Given the description of an element on the screen output the (x, y) to click on. 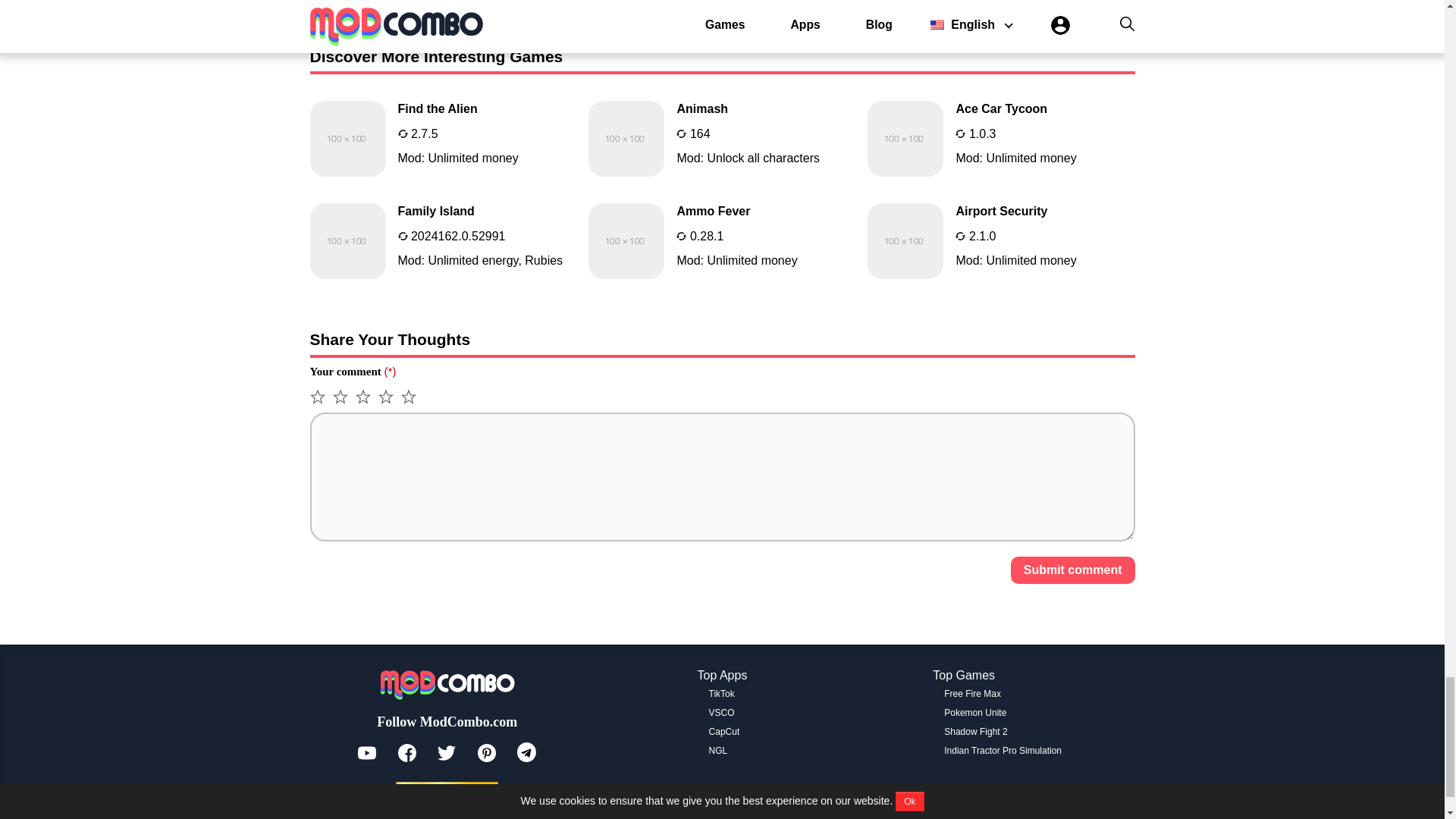
VSCO (722, 712)
Airport Security (1000, 241)
Indian Tractor Pro Simulation (1000, 138)
Free Fire Max (1002, 750)
Pokemon Unite (972, 693)
CapCut (722, 138)
Animash (974, 712)
Ace Car Tycoon (724, 731)
TikTok (722, 138)
Find the Alien (1000, 138)
DMCA.com Protection Status (722, 693)
Ammo Fever (442, 138)
